Given the description of an element on the screen output the (x, y) to click on. 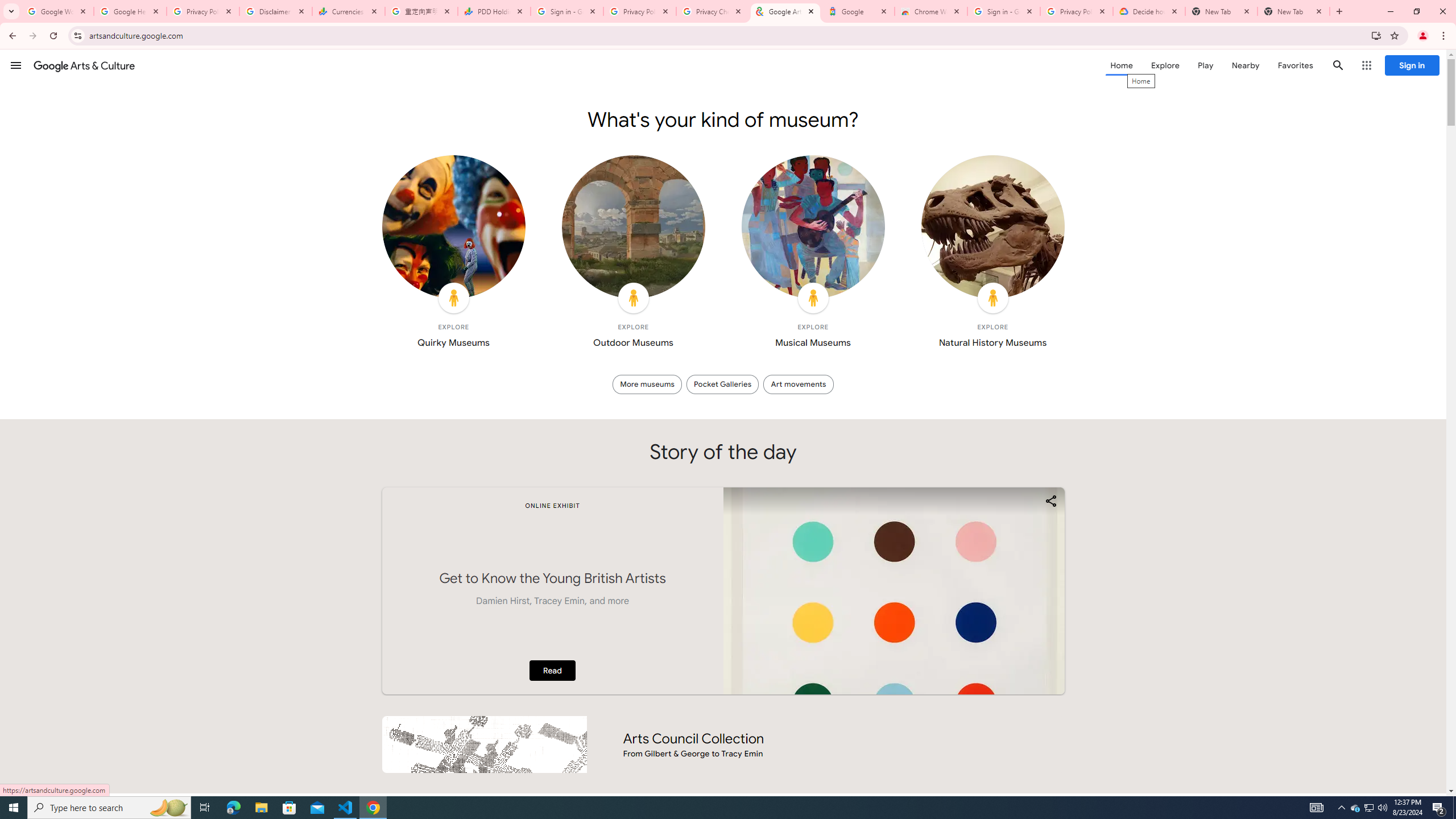
Home (1120, 65)
Google (857, 11)
Menu (15, 65)
New Tab (1293, 11)
Sign in - Google Accounts (1003, 11)
Google Arts & Culture (785, 11)
Google Workspace Admin Community (57, 11)
